Given the description of an element on the screen output the (x, y) to click on. 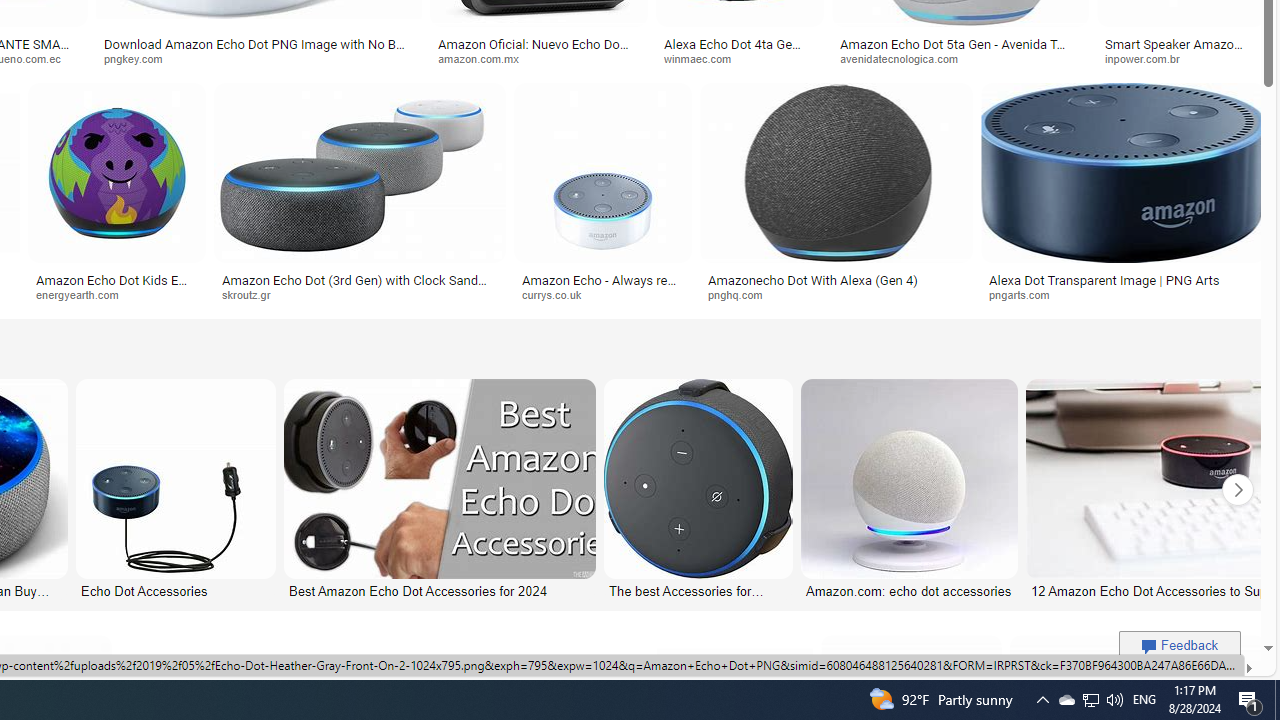
pngarts.com (1123, 295)
Amazon Echo - Always ready, connected and fast. Just ask. (603, 286)
currys.co.uk (602, 295)
Feedback (1179, 645)
